Given the description of an element on the screen output the (x, y) to click on. 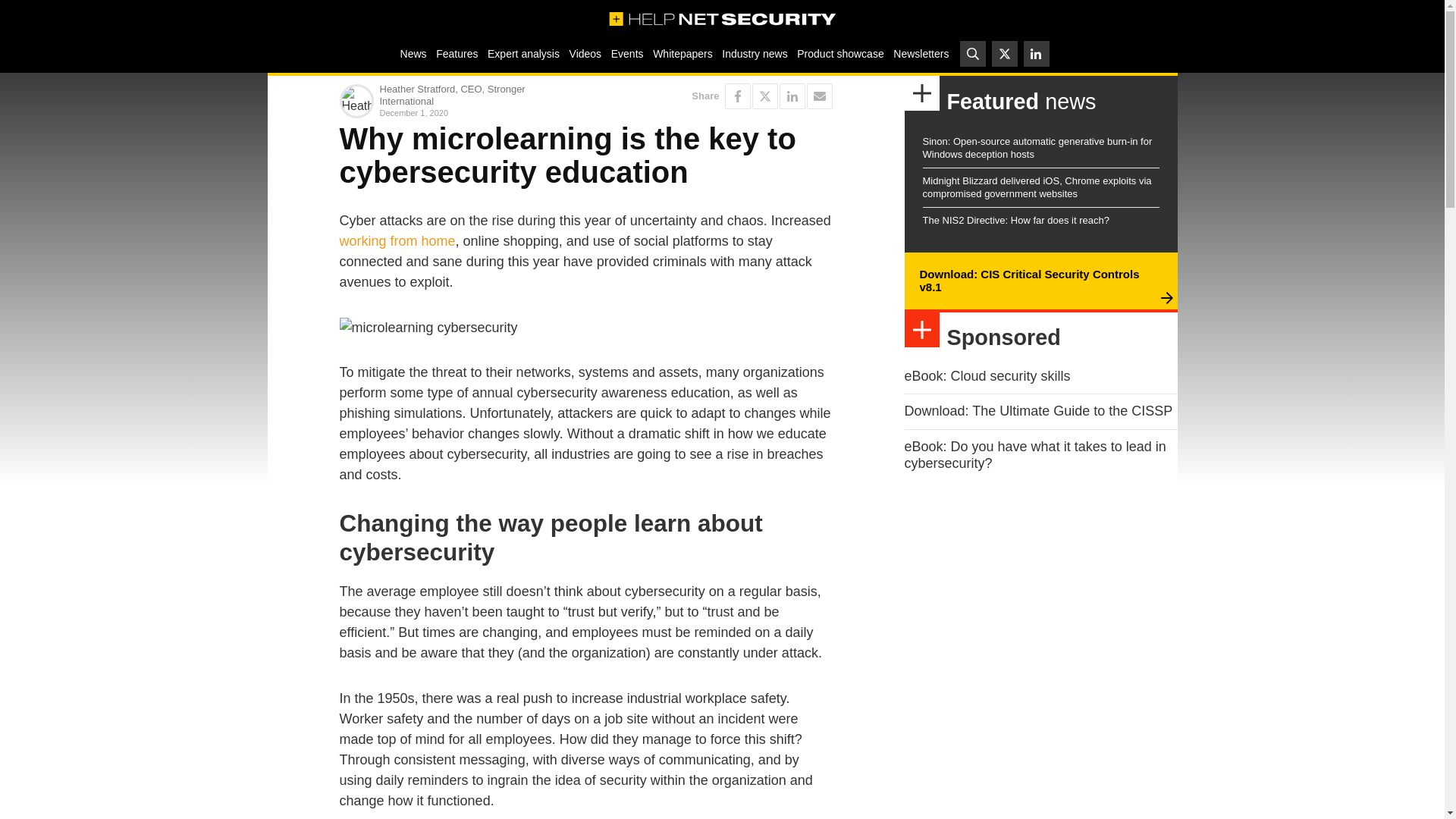
Industry news (754, 53)
Product showcase (840, 53)
Expert analysis (523, 53)
December 1, 2020 (478, 112)
Features (456, 53)
Events (626, 53)
Newsletters (920, 53)
